Given the description of an element on the screen output the (x, y) to click on. 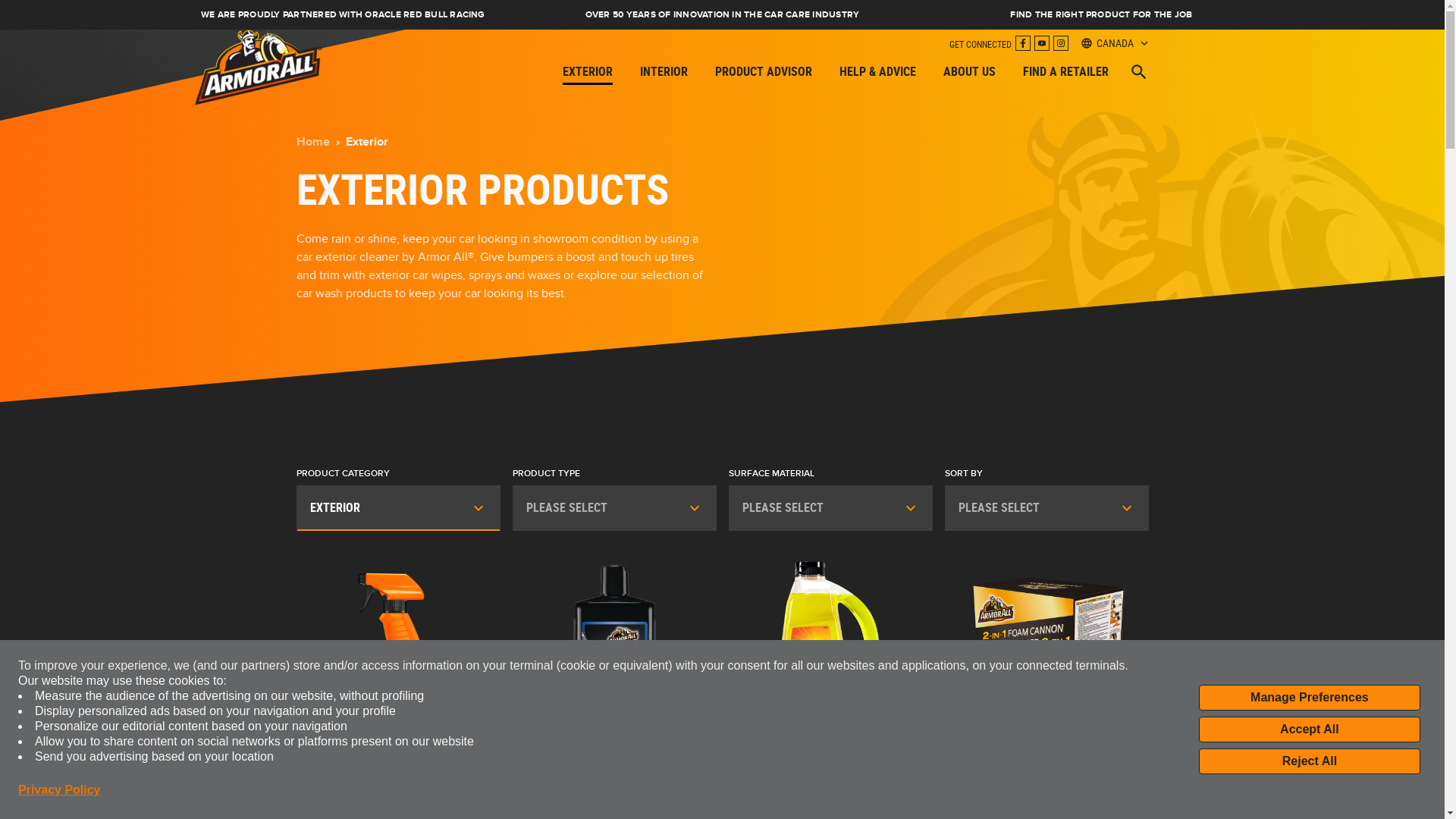
FIND THE RIGHT PRODUCT FOR THE JOB Element type: text (1101, 14)
HELP & ADVICE Element type: text (876, 71)
FOLLOW US ON INSTAGRAM Element type: text (1059, 42)
Home Element type: text (312, 141)
SUBSCRIBE ON YOUTUBE Element type: text (1041, 42)
INTERIOR Element type: text (663, 71)
Privacy Policy Element type: text (59, 789)
EXTERIOR Element type: text (587, 71)
OVER 50 YEARS OF INNOVATION IN THE CAR CARE INDUSTRY Element type: text (722, 14)
FIND A RETAILER Element type: text (1064, 71)
WE ARE PROUDLY PARTNERED WITH ORACLE RED BULL RACING Element type: text (342, 14)
PRODUCT ADVISOR Element type: text (762, 71)
Accept All Element type: text (1309, 729)
Reject All Element type: text (1309, 761)
ABOUT US Element type: text (969, 71)
Manage Preferences Element type: text (1309, 697)
CANADA Element type: text (1111, 43)
LIKE US ON FACEBOOK Element type: text (1021, 42)
